Given the description of an element on the screen output the (x, y) to click on. 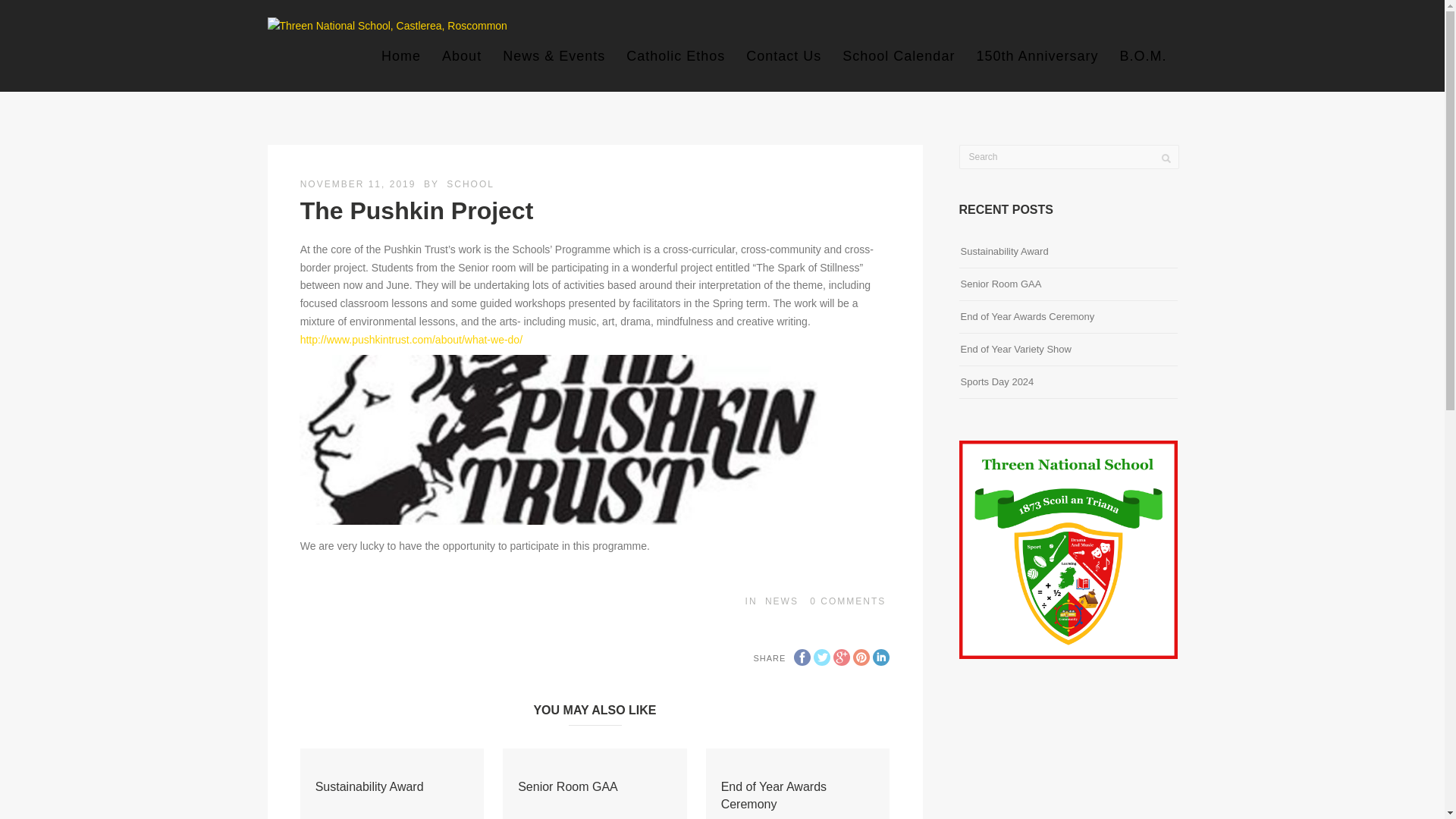
Sustainability Award (369, 786)
End of Year Awards Ceremony (773, 794)
B.O.M. (1142, 56)
Catholic Ethos (675, 56)
SCHOOL (470, 184)
About (461, 56)
Facebook (801, 657)
Home (400, 56)
Senior Room GAA (567, 786)
Pinterest (861, 657)
